Given the description of an element on the screen output the (x, y) to click on. 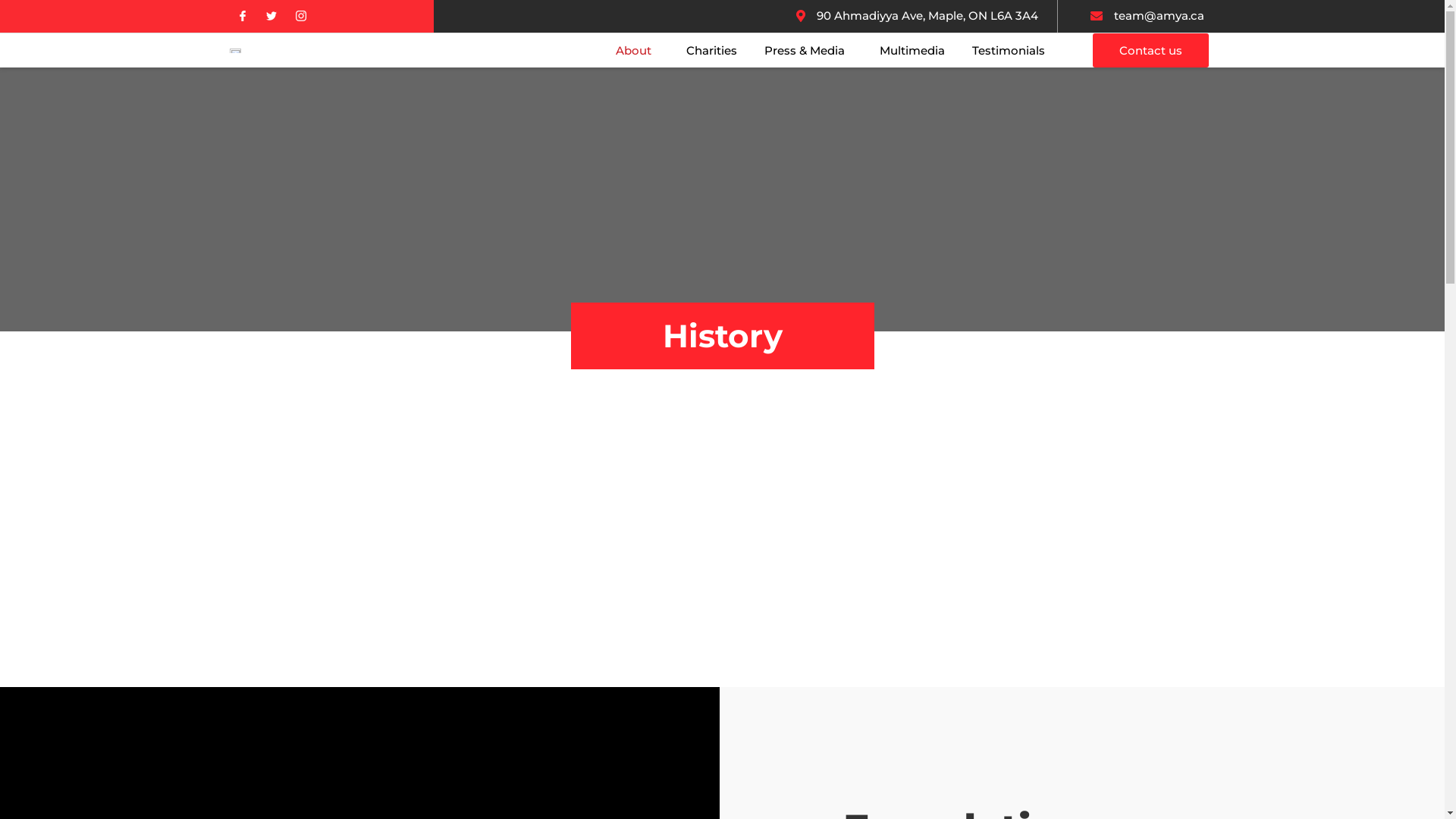
Testimonials Element type: text (1008, 50)
Charities Element type: text (711, 50)
90 Ahmadiyya Ave, Maple, ON L6A 3A4 Element type: text (914, 16)
About Element type: text (637, 50)
Multimedia Element type: text (912, 50)
Press & Media Element type: text (808, 50)
team@amya.ca Element type: text (1145, 16)
Contact us Element type: text (1150, 50)
